Given the description of an element on the screen output the (x, y) to click on. 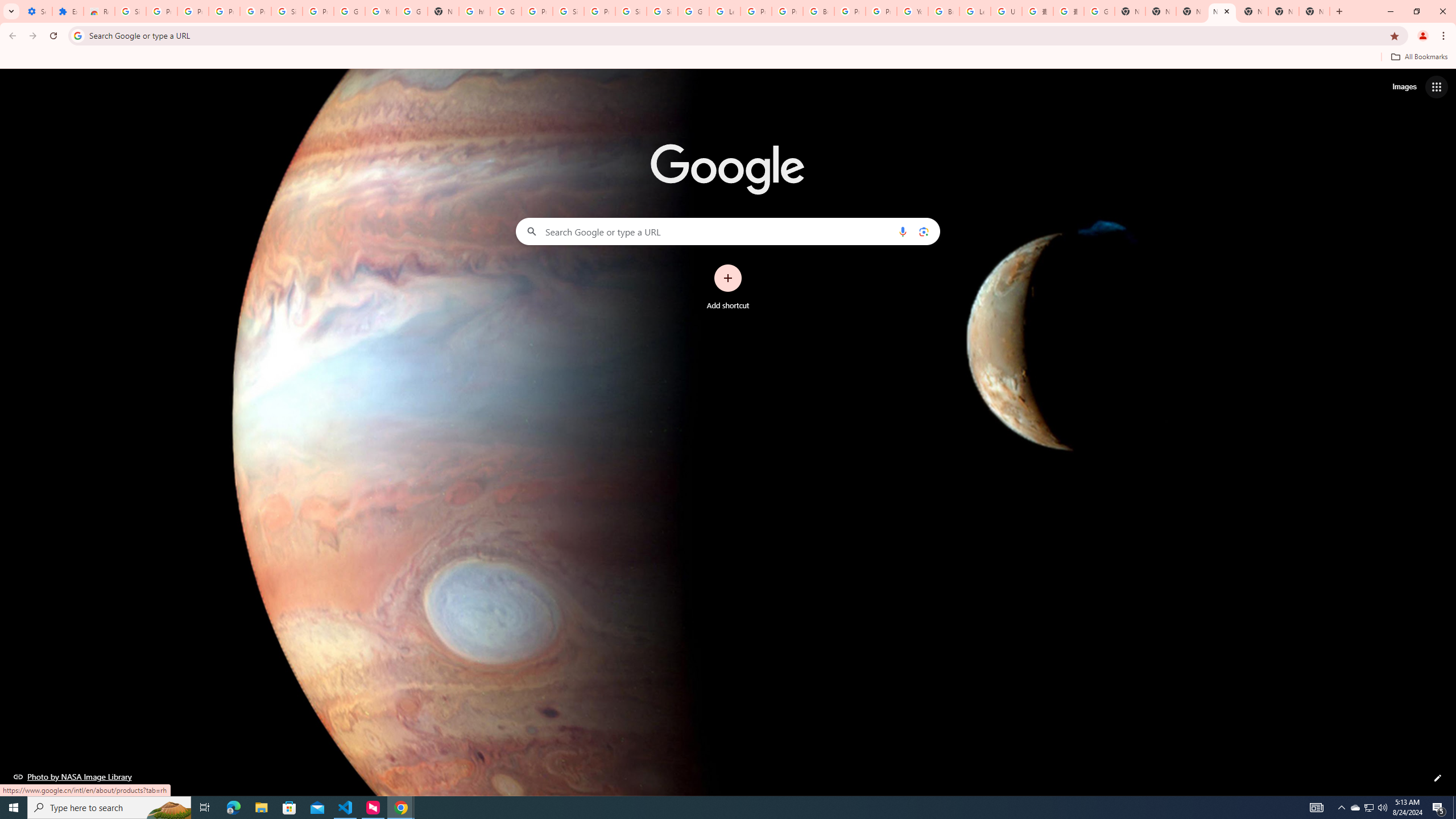
Google Account (349, 11)
